Given the description of an element on the screen output the (x, y) to click on. 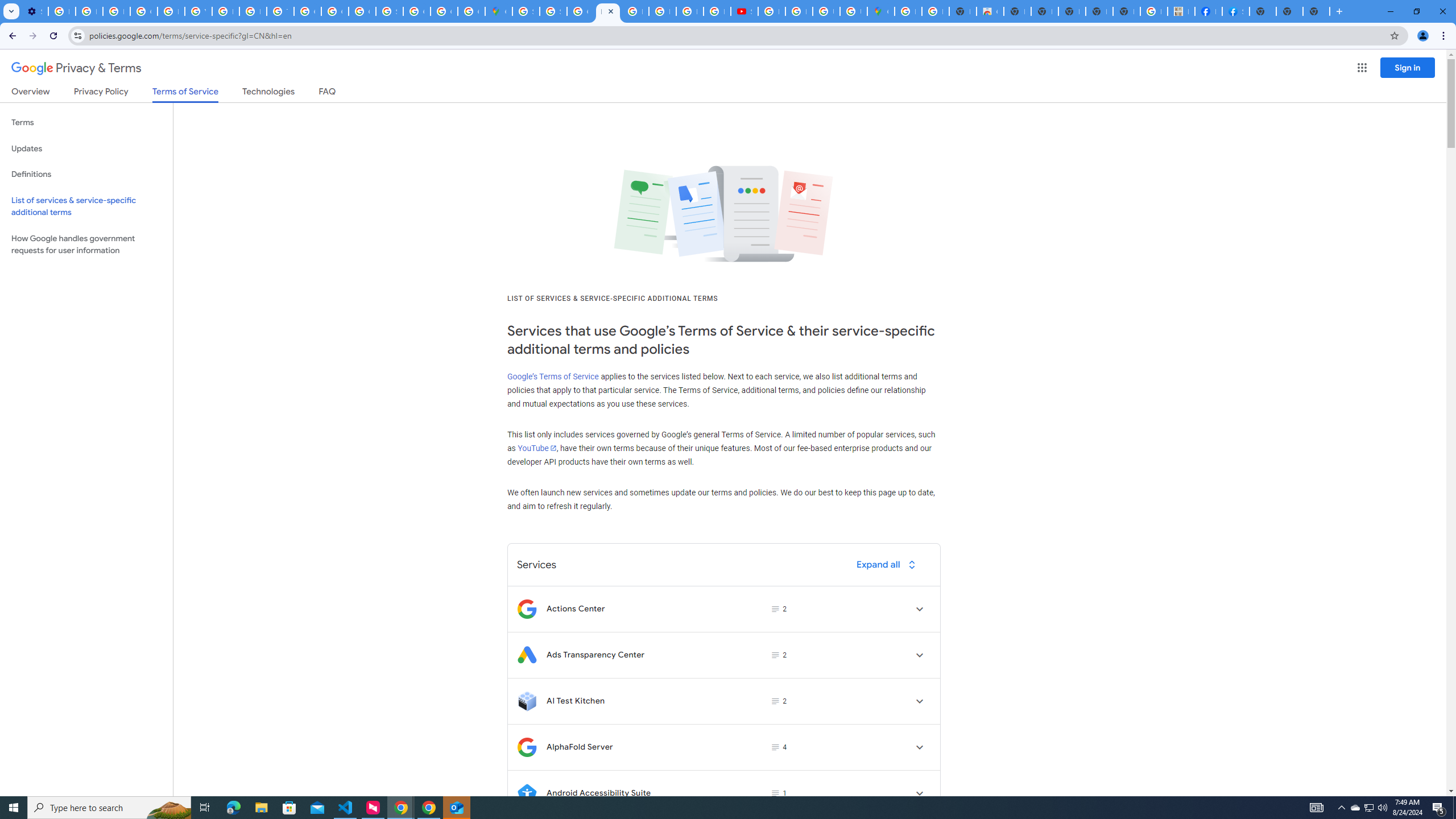
Expand all (888, 564)
Logo for AlphaFold Server (526, 746)
Settings - Customize profile (34, 11)
YouTube (197, 11)
Google Maps (880, 11)
